Given the description of an element on the screen output the (x, y) to click on. 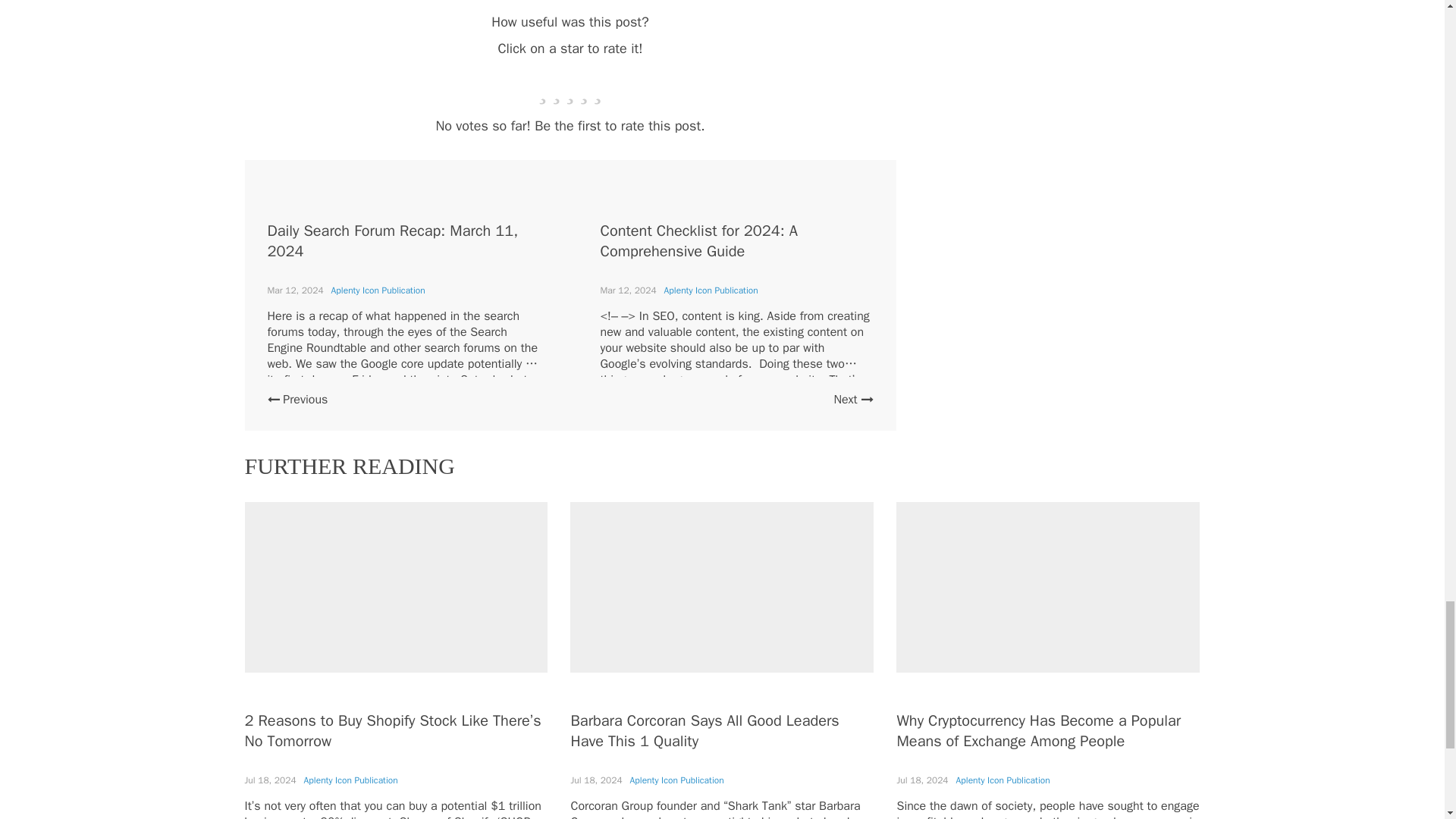
Daily Search Forum Recap: March 11, 2024 (392, 241)
Previous (296, 399)
Next (852, 399)
Aplenty Icon Publication (1002, 779)
Aplenty Icon Publication (350, 779)
Aplenty Icon Publication (676, 779)
Aplenty Icon Publication (378, 290)
Aplenty Icon Publication (710, 290)
Barbara Corcoran Says All Good Leaders Have This 1 Quality (704, 731)
Content Checklist for 2024: A Comprehensive Guide (698, 241)
